Given the description of an element on the screen output the (x, y) to click on. 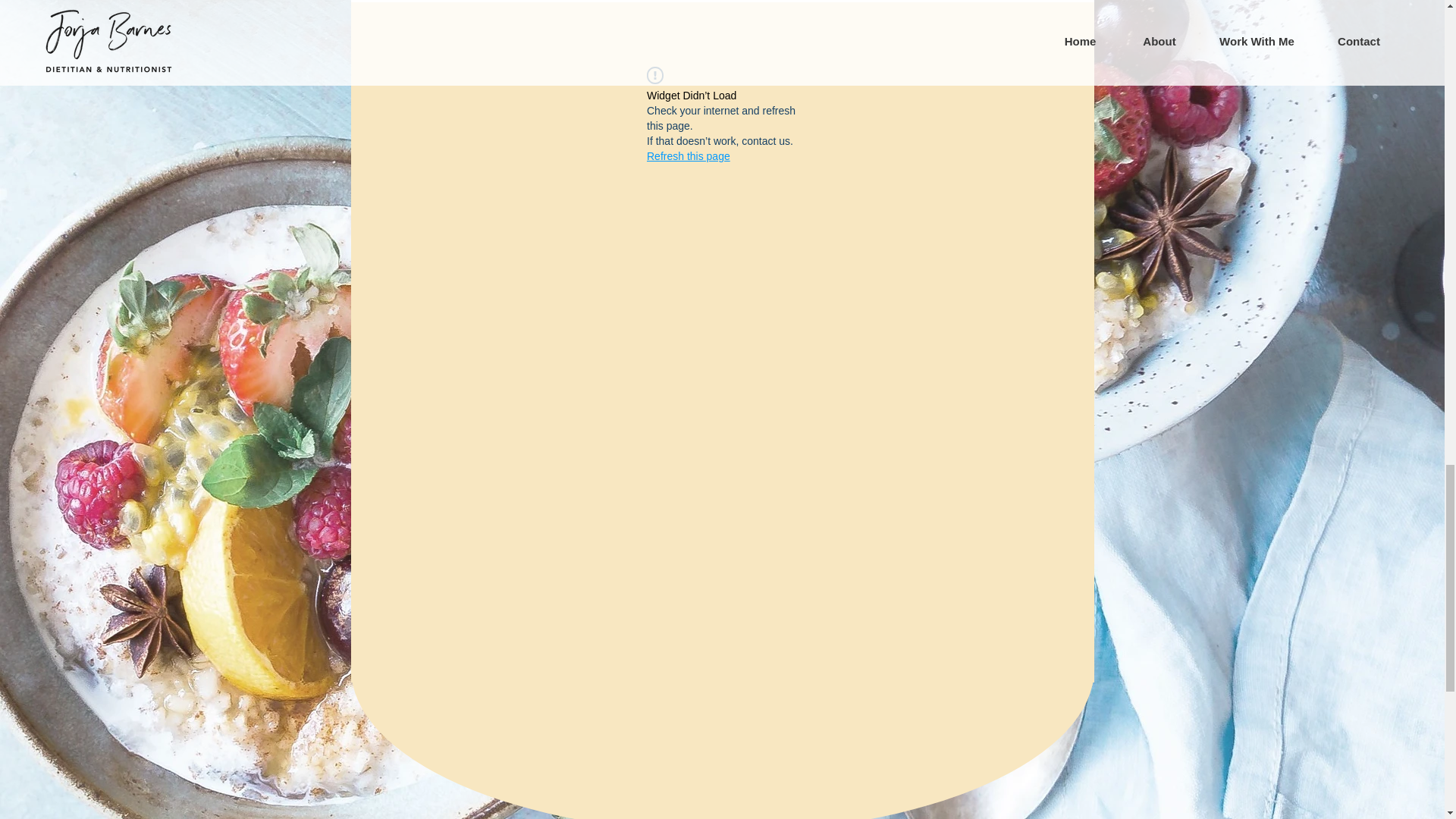
Refresh this page (688, 155)
